Given the description of an element on the screen output the (x, y) to click on. 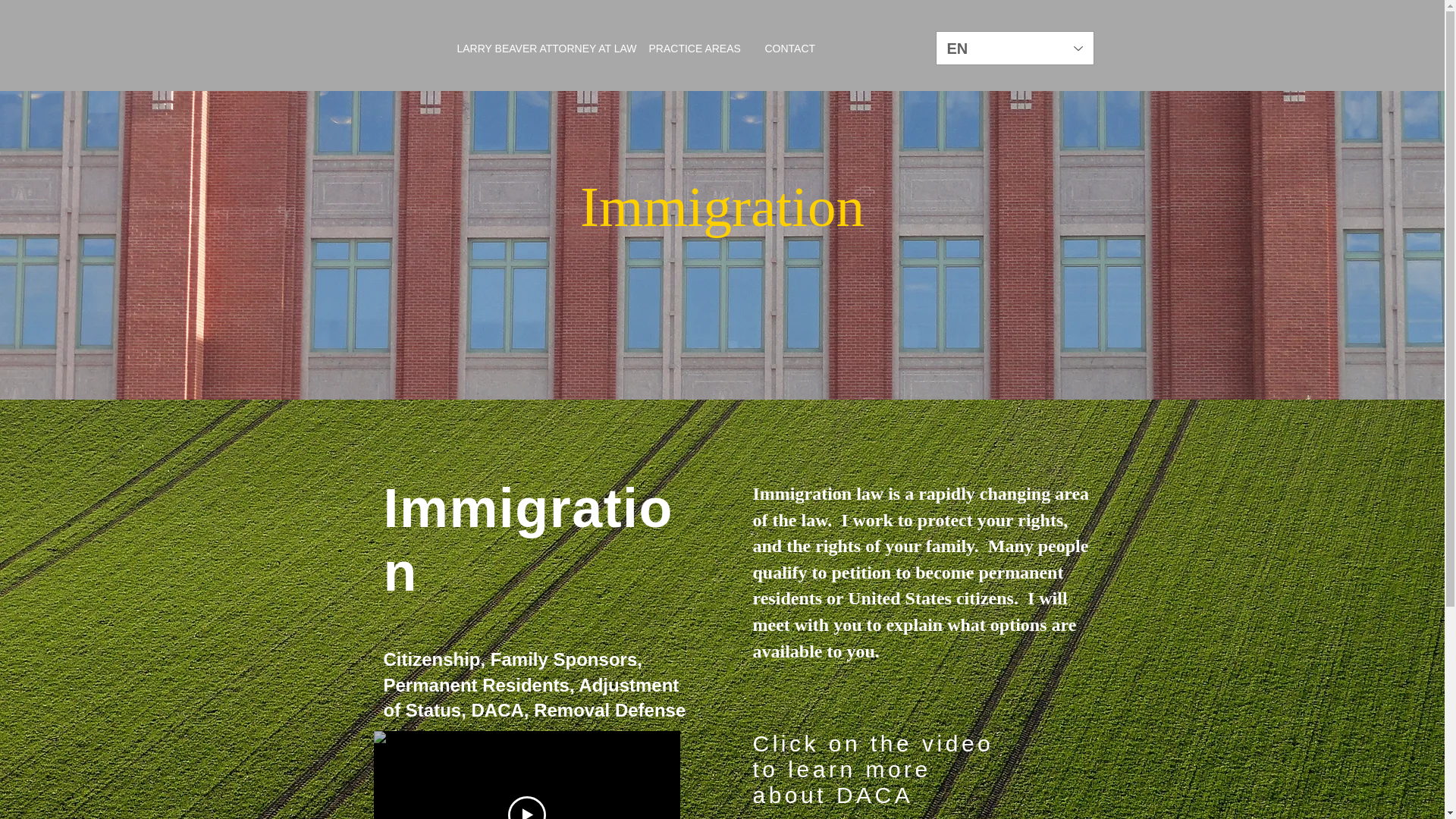
LARRY BEAVER ATTORNEY AT LAW (534, 48)
CONTACT (785, 48)
PRACTICE AREAS (686, 48)
